Given the description of an element on the screen output the (x, y) to click on. 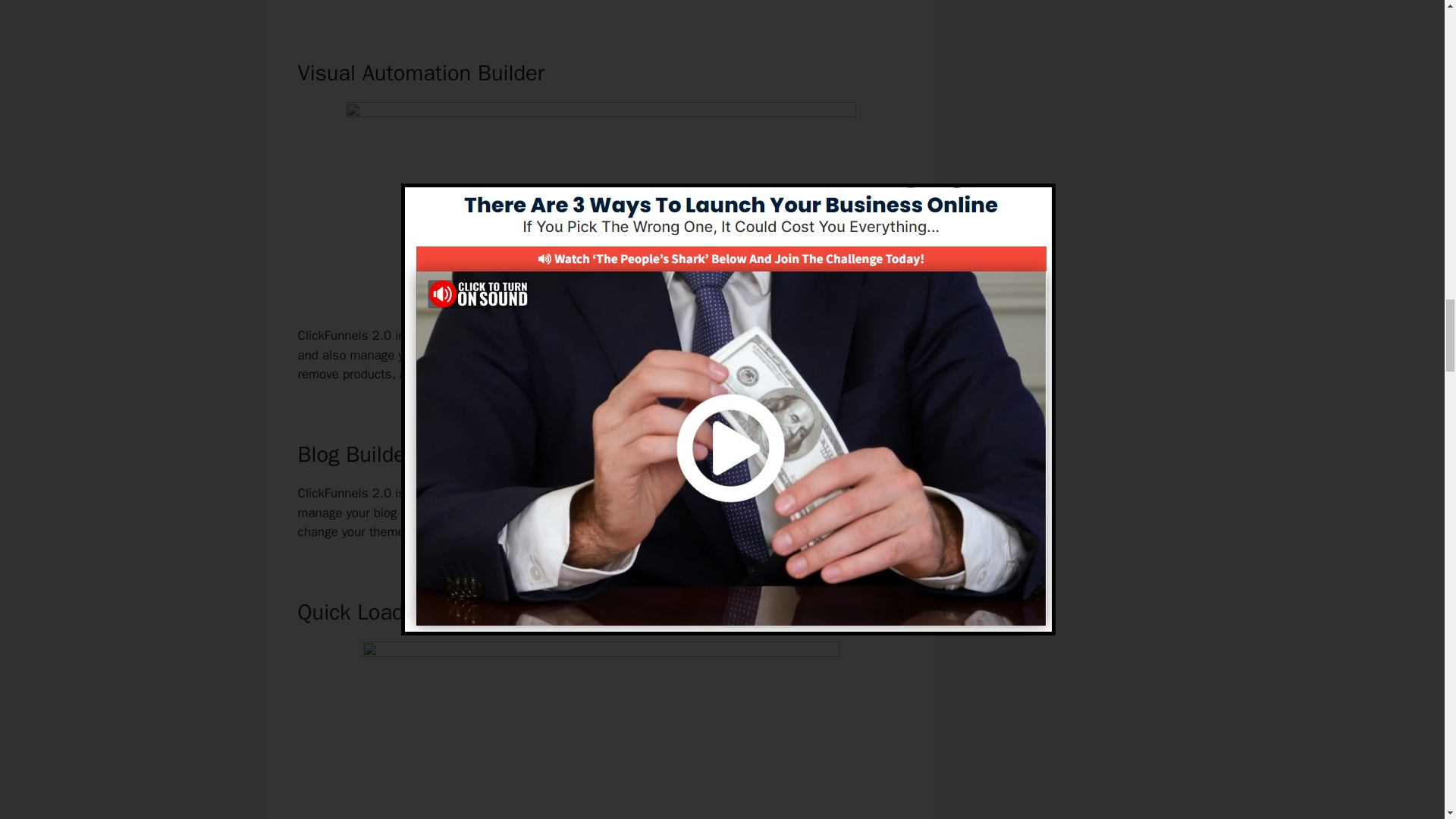
Begin Here For Free Today (601, 283)
